Given the description of an element on the screen output the (x, y) to click on. 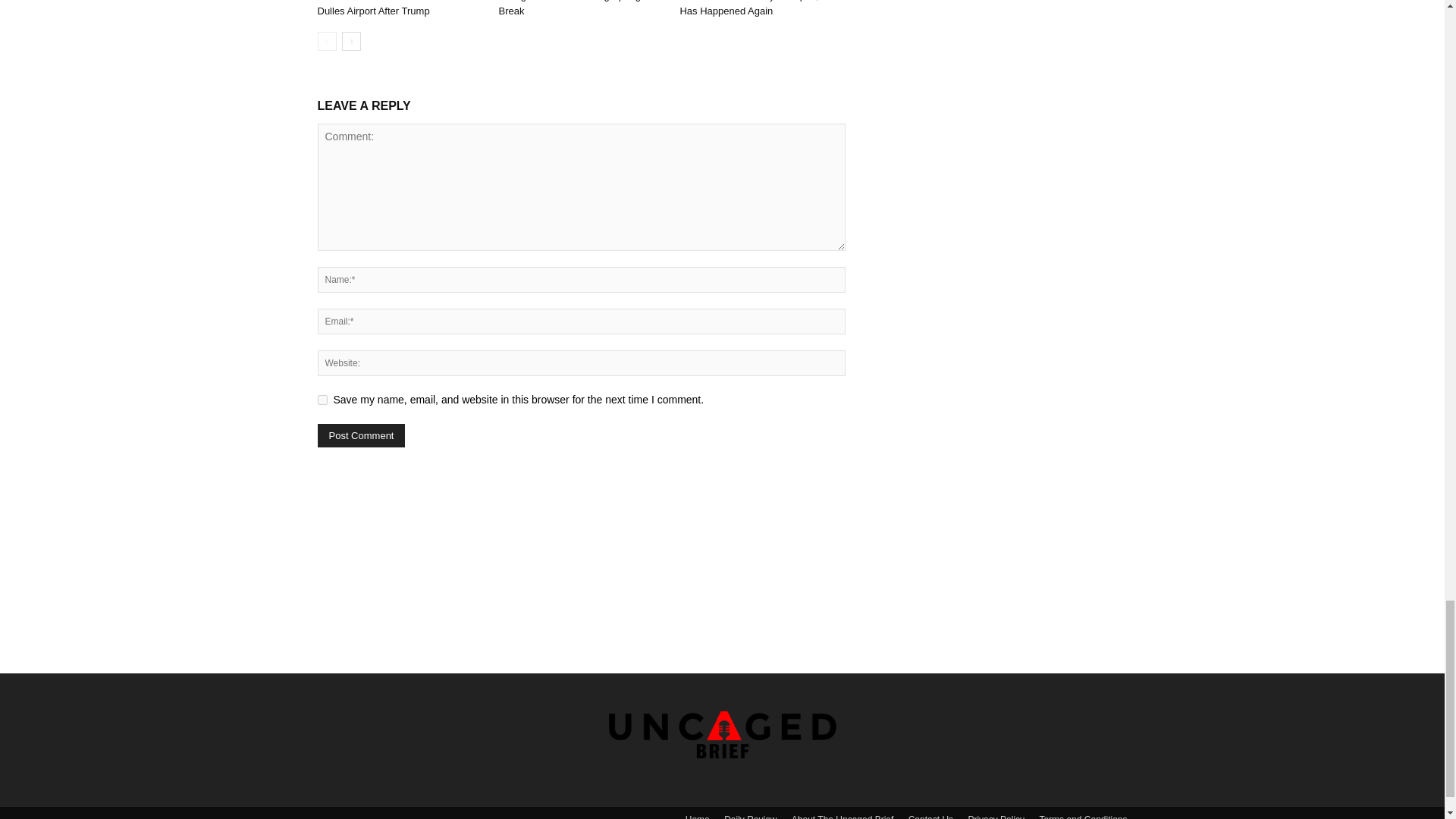
yes (321, 399)
Post Comment (360, 435)
